Given the description of an element on the screen output the (x, y) to click on. 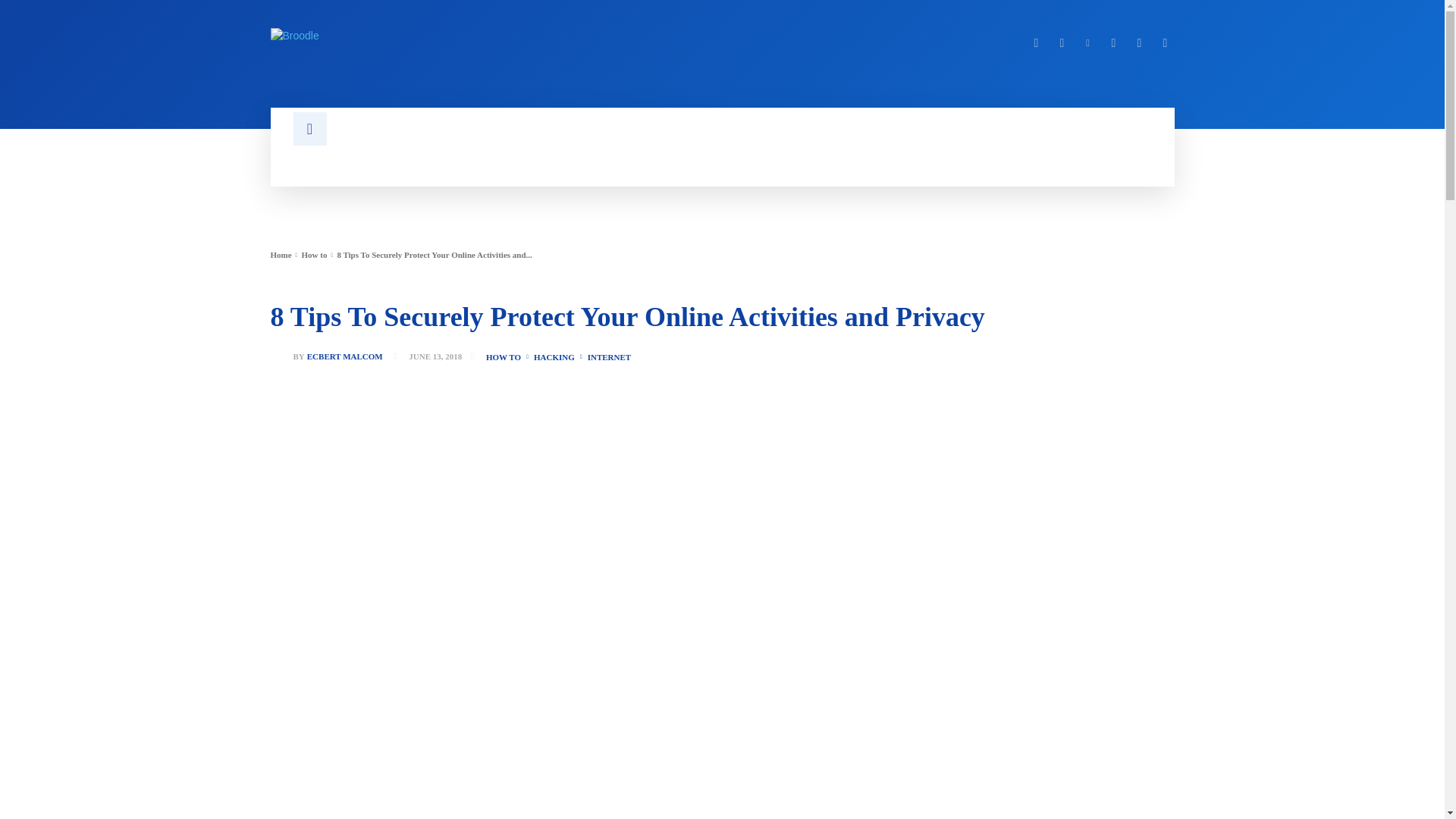
Facebook (1035, 43)
Instagram (1061, 43)
Broodle (486, 35)
Broodle (293, 35)
Linkedin (1087, 43)
